Given the description of an element on the screen output the (x, y) to click on. 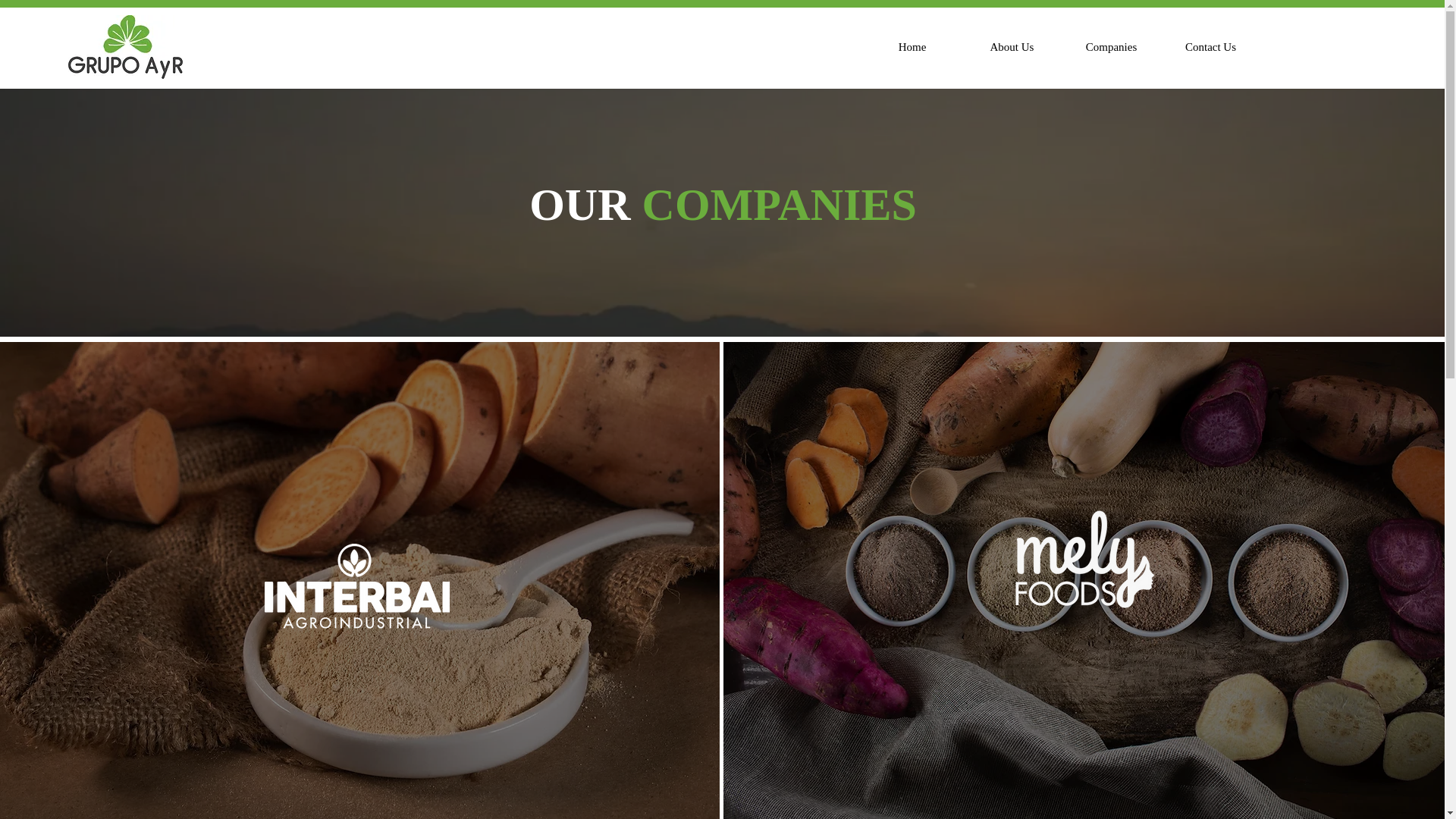
Contact Us (1210, 46)
About Us (1011, 46)
Home (911, 46)
Companies (1110, 46)
